Given the description of an element on the screen output the (x, y) to click on. 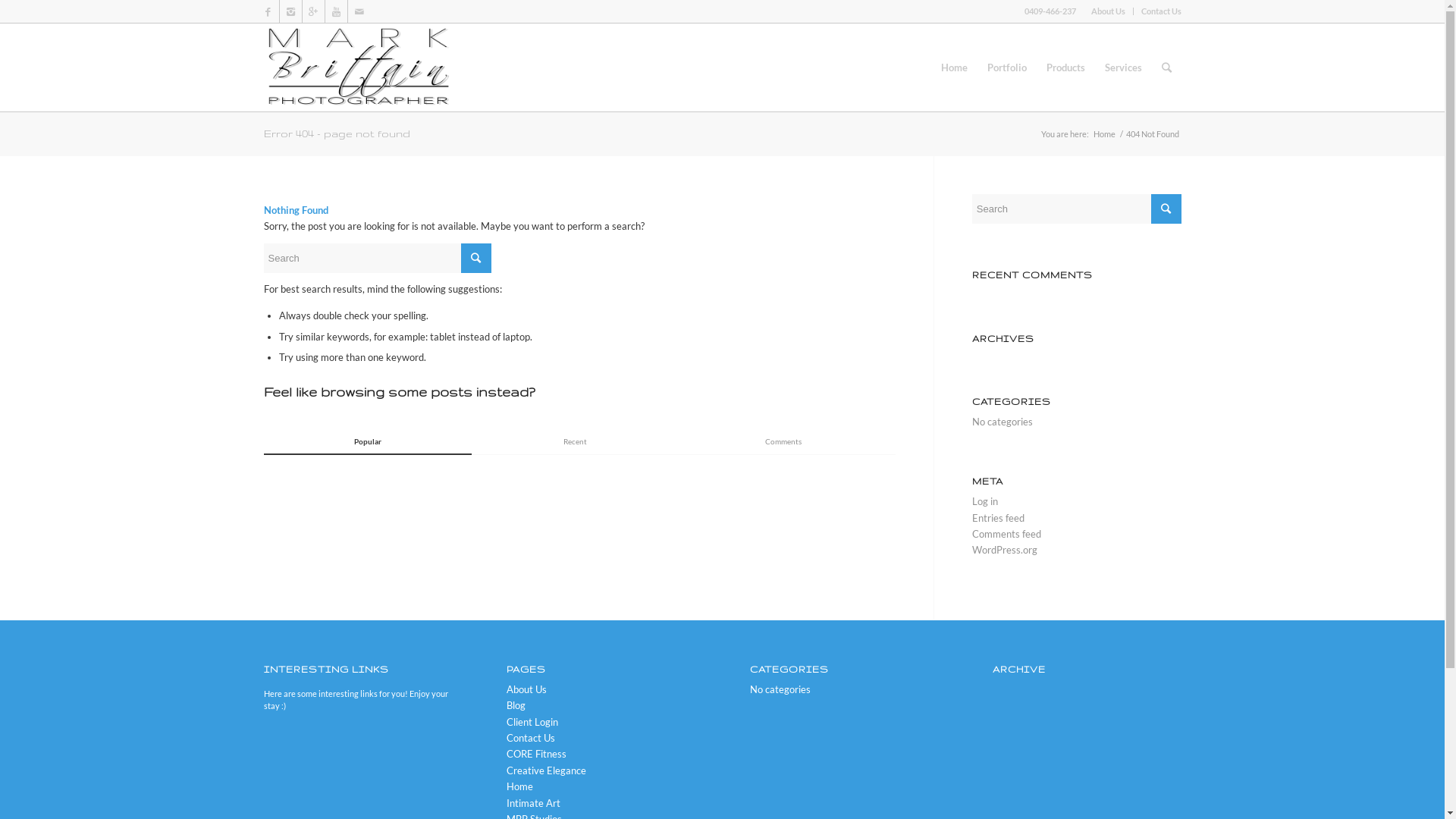
Mail Element type: hover (358, 11)
CORE Fitness Element type: text (536, 753)
Creative Elegance Element type: text (546, 770)
Client Login Element type: text (532, 721)
Home Element type: text (519, 786)
Contact Us Element type: text (530, 737)
Comments feed Element type: text (1006, 533)
Services Element type: text (1123, 67)
Products Element type: text (1064, 67)
About Us Element type: text (1107, 10)
Blog Element type: text (515, 705)
Log in Element type: text (984, 501)
Facebook Element type: hover (267, 11)
Gplus Element type: hover (312, 11)
Contact Us Element type: text (1160, 10)
About Us Element type: text (526, 689)
Portfolio Element type: text (1005, 67)
Intimate Art Element type: text (533, 803)
Entries feed Element type: text (998, 517)
WordPress.org Element type: text (1004, 549)
Home Element type: text (954, 67)
Instagram Element type: hover (290, 11)
Youtube Element type: hover (335, 11)
Home Element type: text (1103, 133)
